Given the description of an element on the screen output the (x, y) to click on. 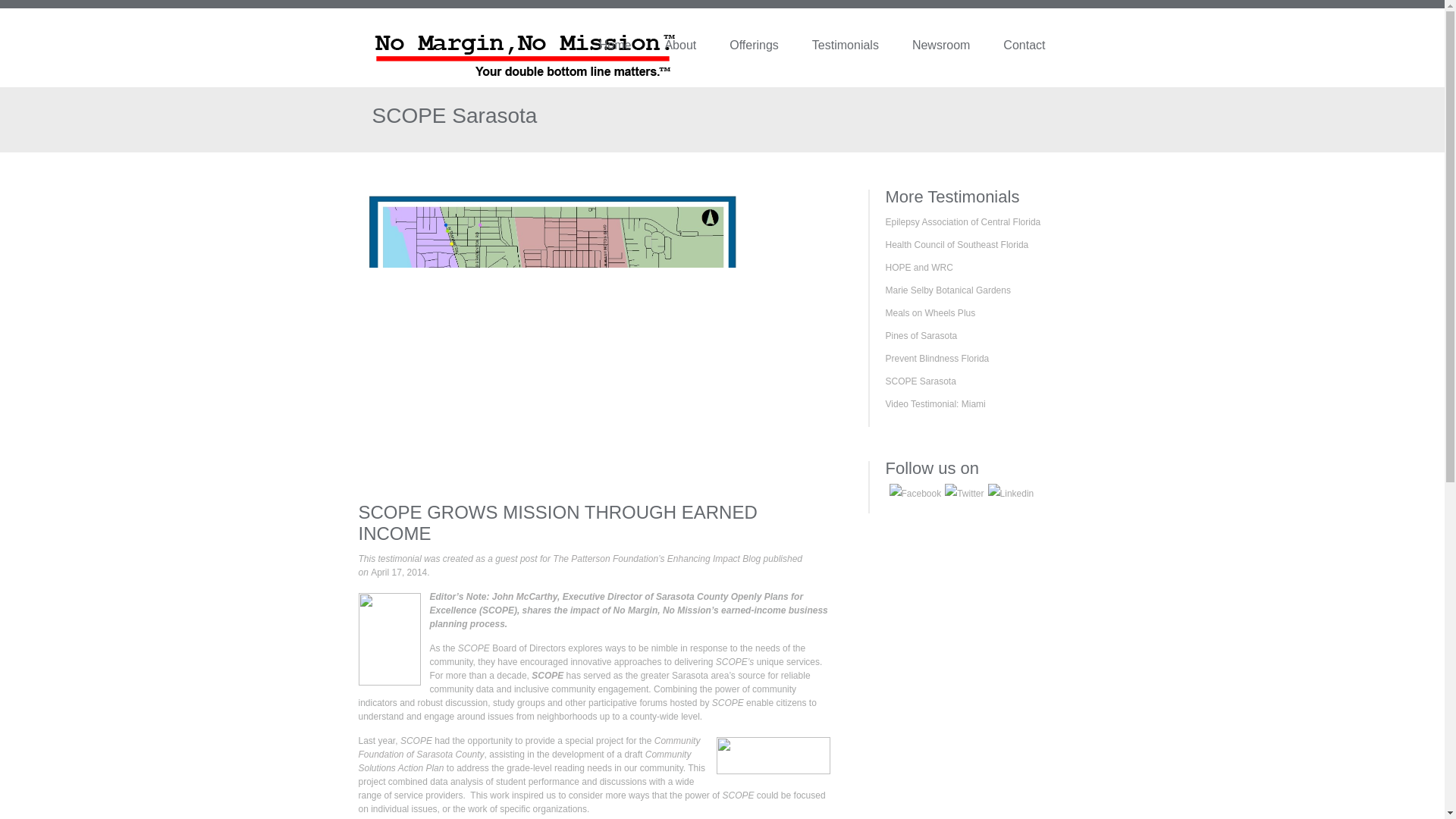
Enhancing Impact Blog (713, 558)
Home (631, 49)
Community Foundation of Sarasota County (529, 747)
Testimonials (862, 49)
SCOPE Map (553, 339)
SCOPE (547, 675)
About (696, 49)
Newsroom (957, 49)
SCOPE Logo (772, 755)
Offerings (770, 49)
John McCarthy (524, 596)
grade-level reading needs (558, 767)
Contact (1040, 49)
